Given the description of an element on the screen output the (x, y) to click on. 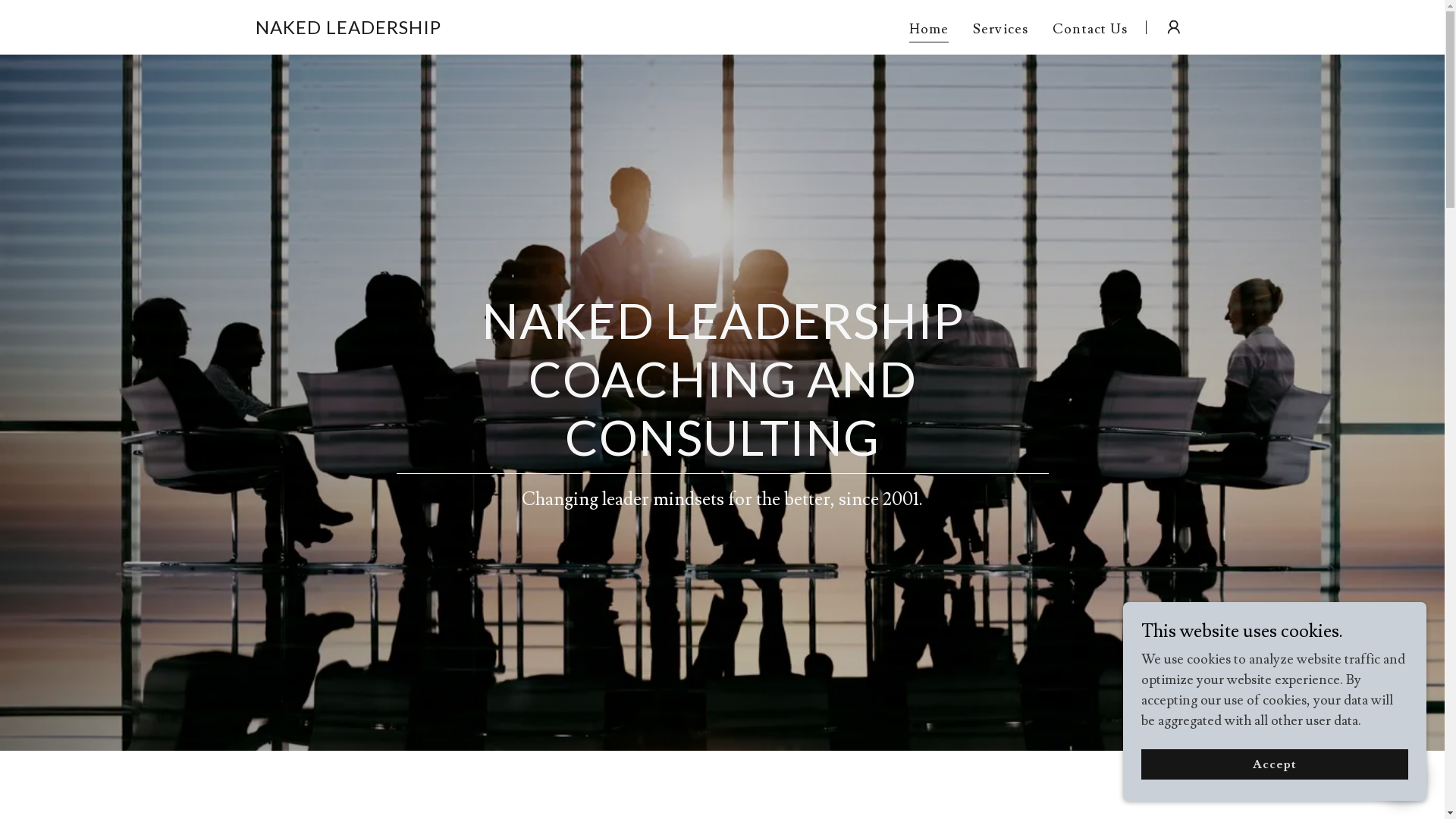
Contact Us Element type: text (1090, 28)
Services Element type: text (1000, 28)
Accept Element type: text (1274, 764)
Home Element type: text (929, 30)
NAKED LEADERSHIP Element type: text (347, 29)
